Given the description of an element on the screen output the (x, y) to click on. 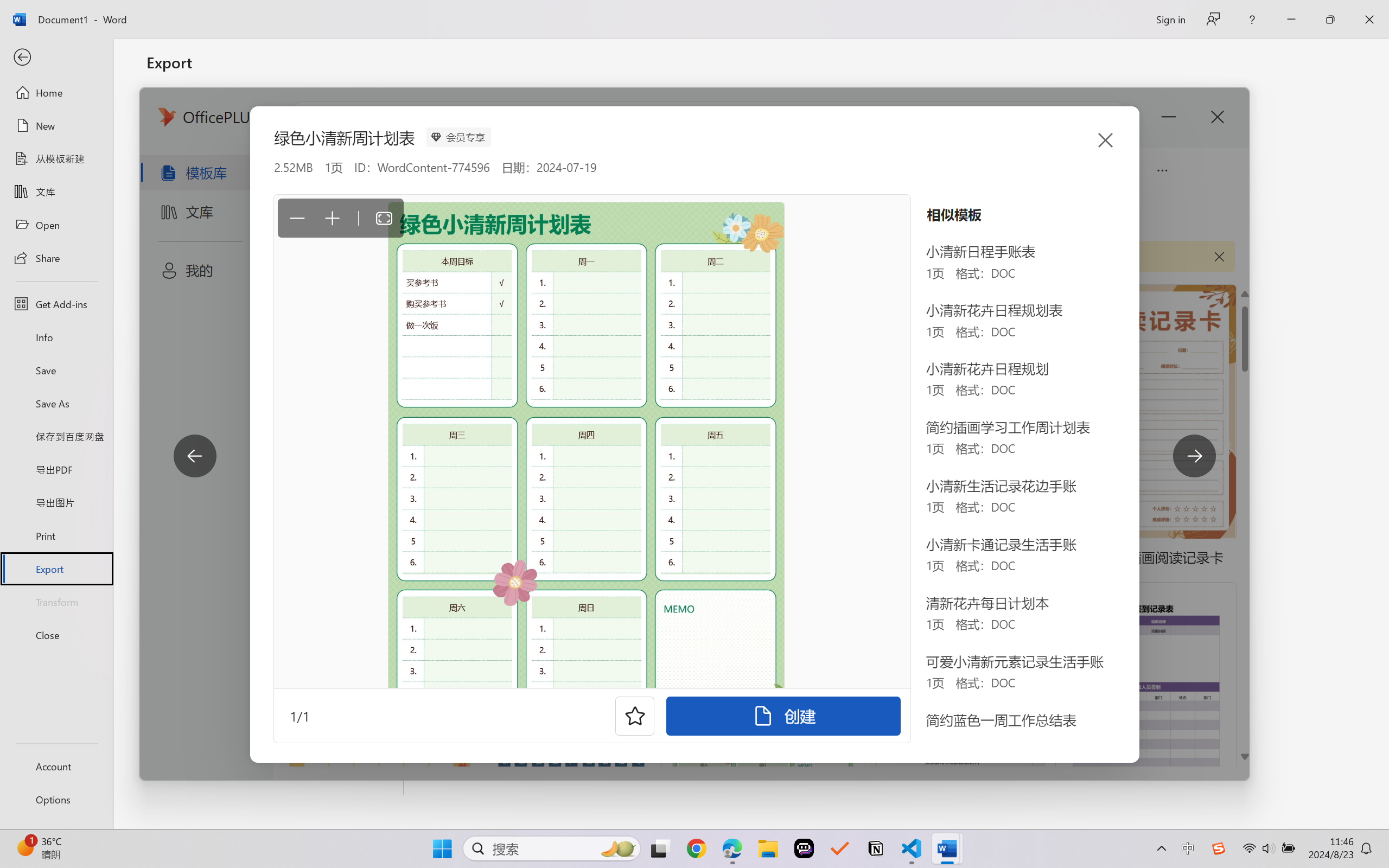
Options (56, 798)
Create PDF/XPS (464, 216)
Info (56, 337)
Save As (56, 403)
Export (56, 568)
